Given the description of an element on the screen output the (x, y) to click on. 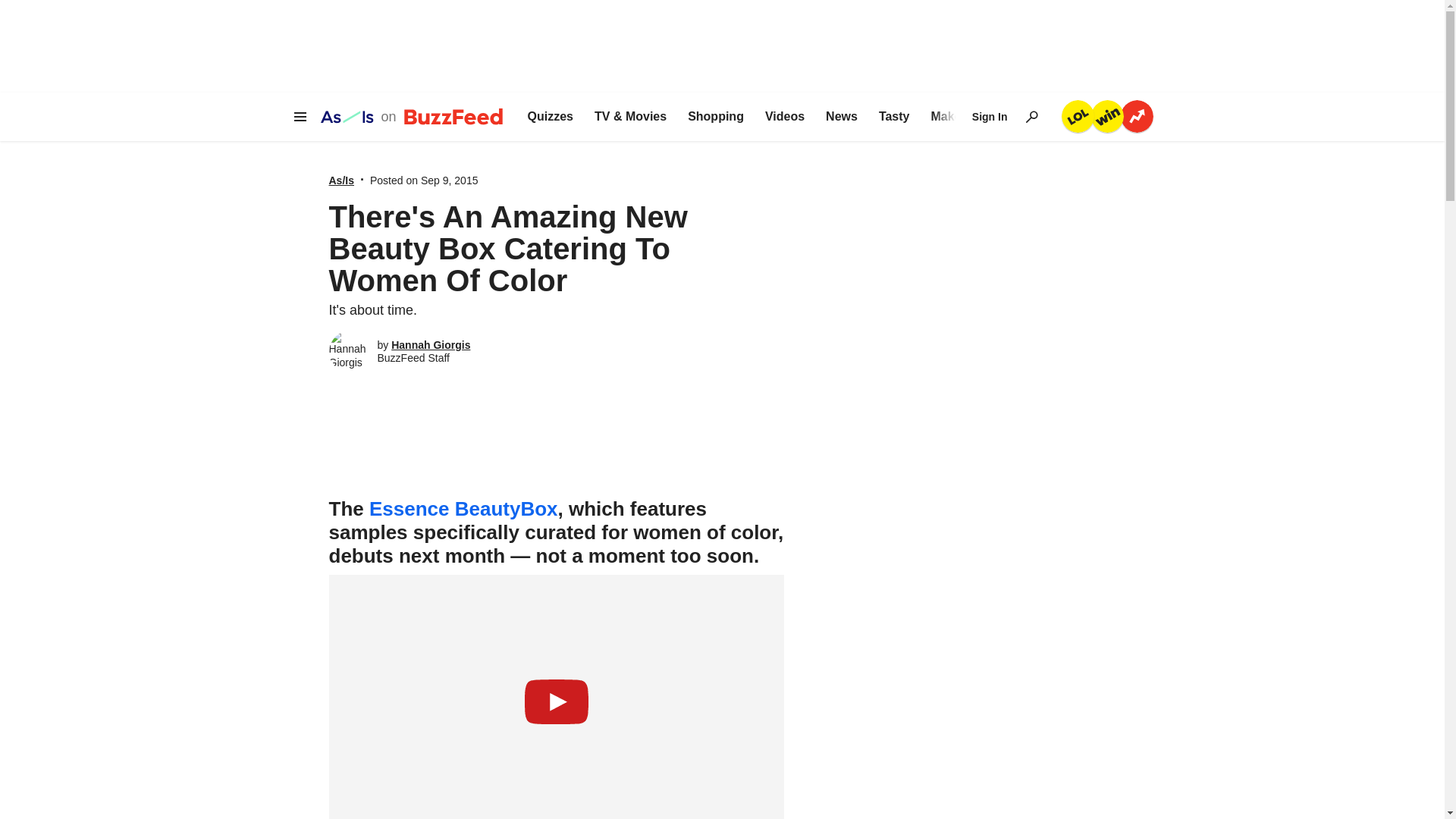
Shopping (715, 116)
trending Badge Feed (1137, 115)
Make a Quiz (965, 116)
Sign In (989, 116)
Quizzes (550, 116)
News (841, 116)
Tasty (894, 116)
win Badge Feed (1106, 115)
lol Badge Feed (1077, 115)
Videos (785, 116)
